Given the description of an element on the screen output the (x, y) to click on. 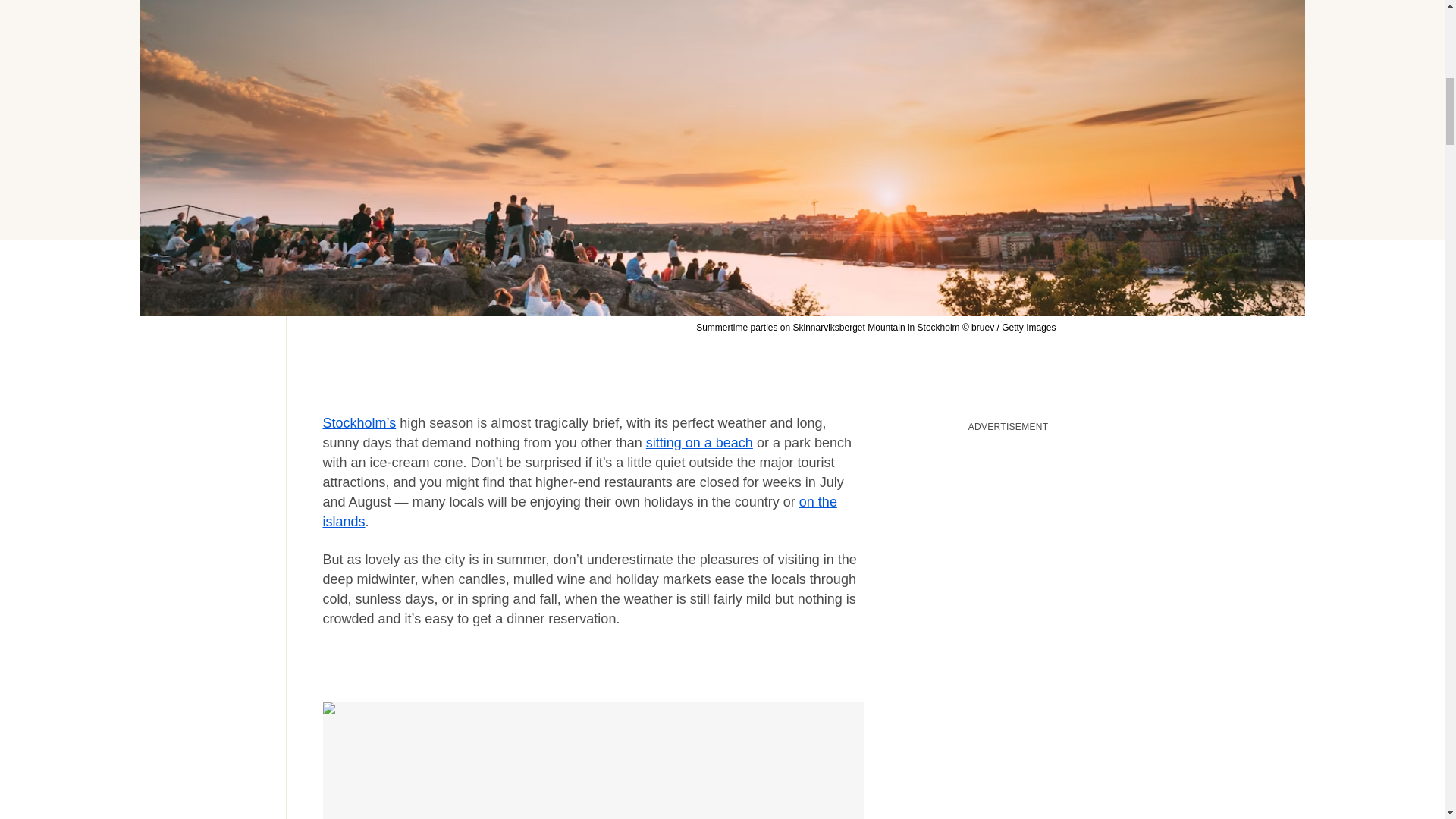
on the islands (580, 511)
3rd party ad content (1008, 534)
sitting on a beach (699, 442)
